Given the description of an element on the screen output the (x, y) to click on. 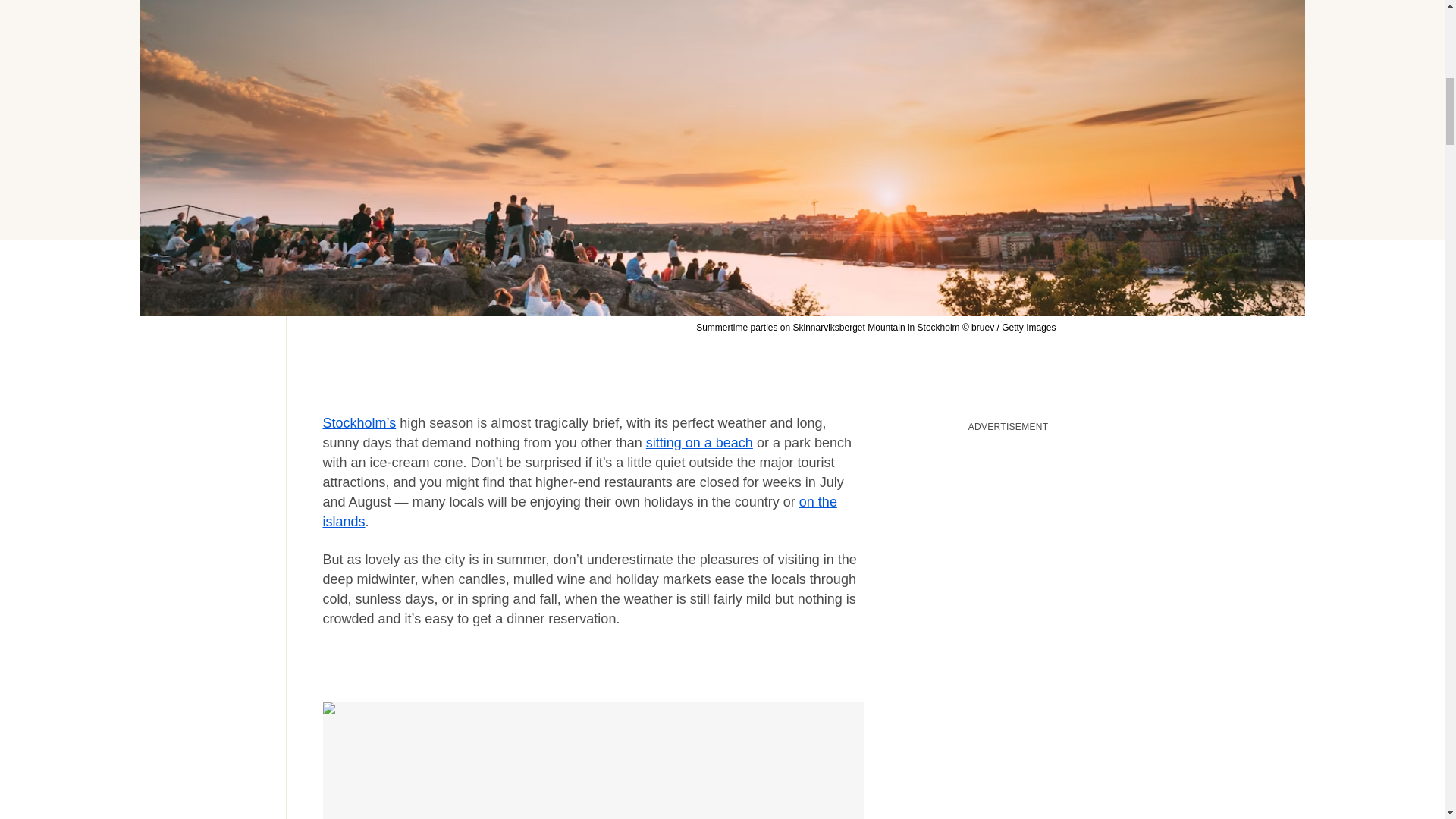
on the islands (580, 511)
3rd party ad content (1008, 534)
sitting on a beach (699, 442)
